Given the description of an element on the screen output the (x, y) to click on. 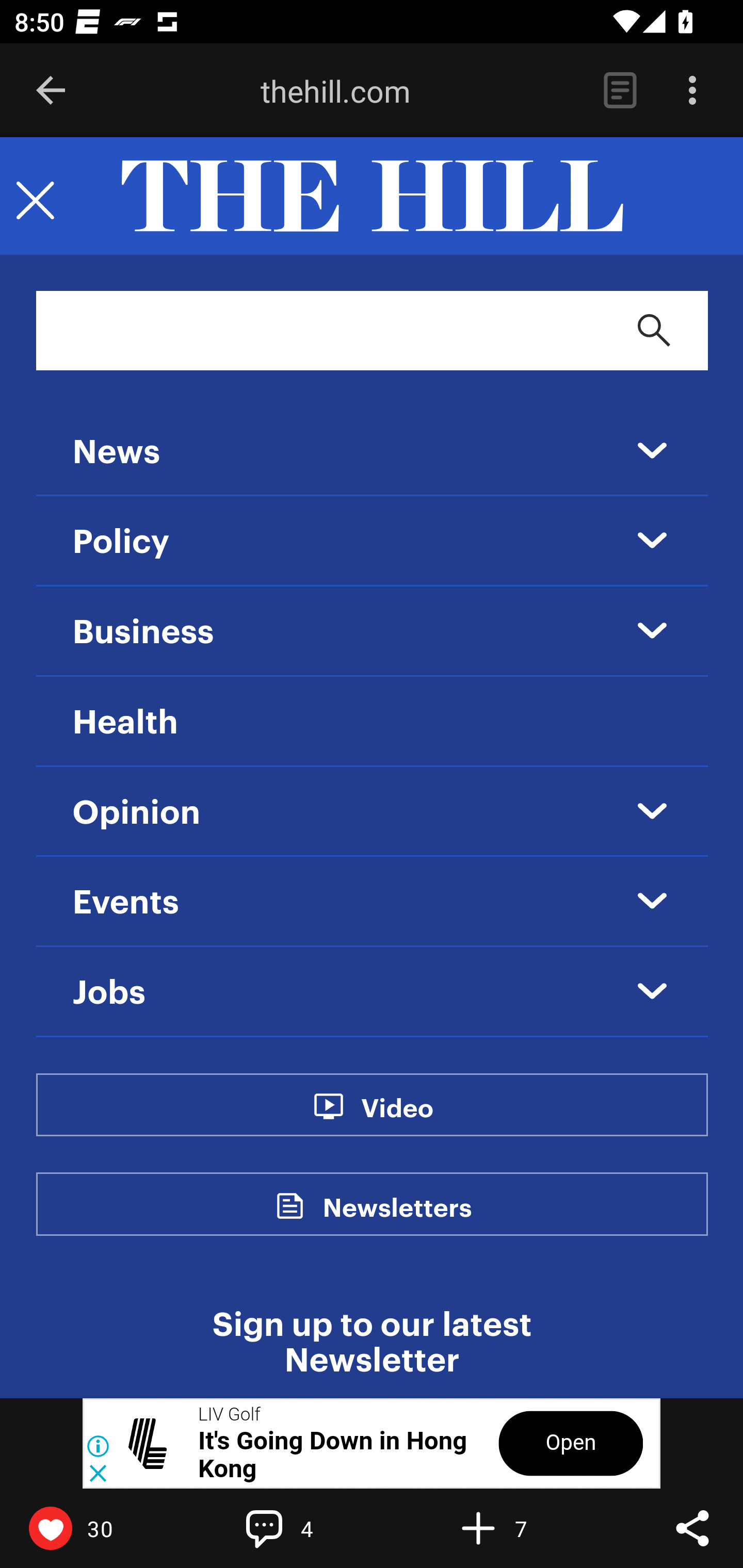
Back (50, 90)
Reader View (619, 90)
Options (692, 90)
Toggle Menu (34, 196)
TheHill.com (371, 196)
Search (654, 329)
News (116, 453)
Policy (121, 543)
Business (143, 632)
Health (125, 722)
Opinion (137, 812)
Events (126, 902)
Jobs (109, 993)
Video (396, 1118)
Newsletters (397, 1218)
Like 30 (93, 1528)
Write a comment… 4 (307, 1528)
Flip into Magazine 7 (521, 1528)
Share (692, 1528)
